Given the description of an element on the screen output the (x, y) to click on. 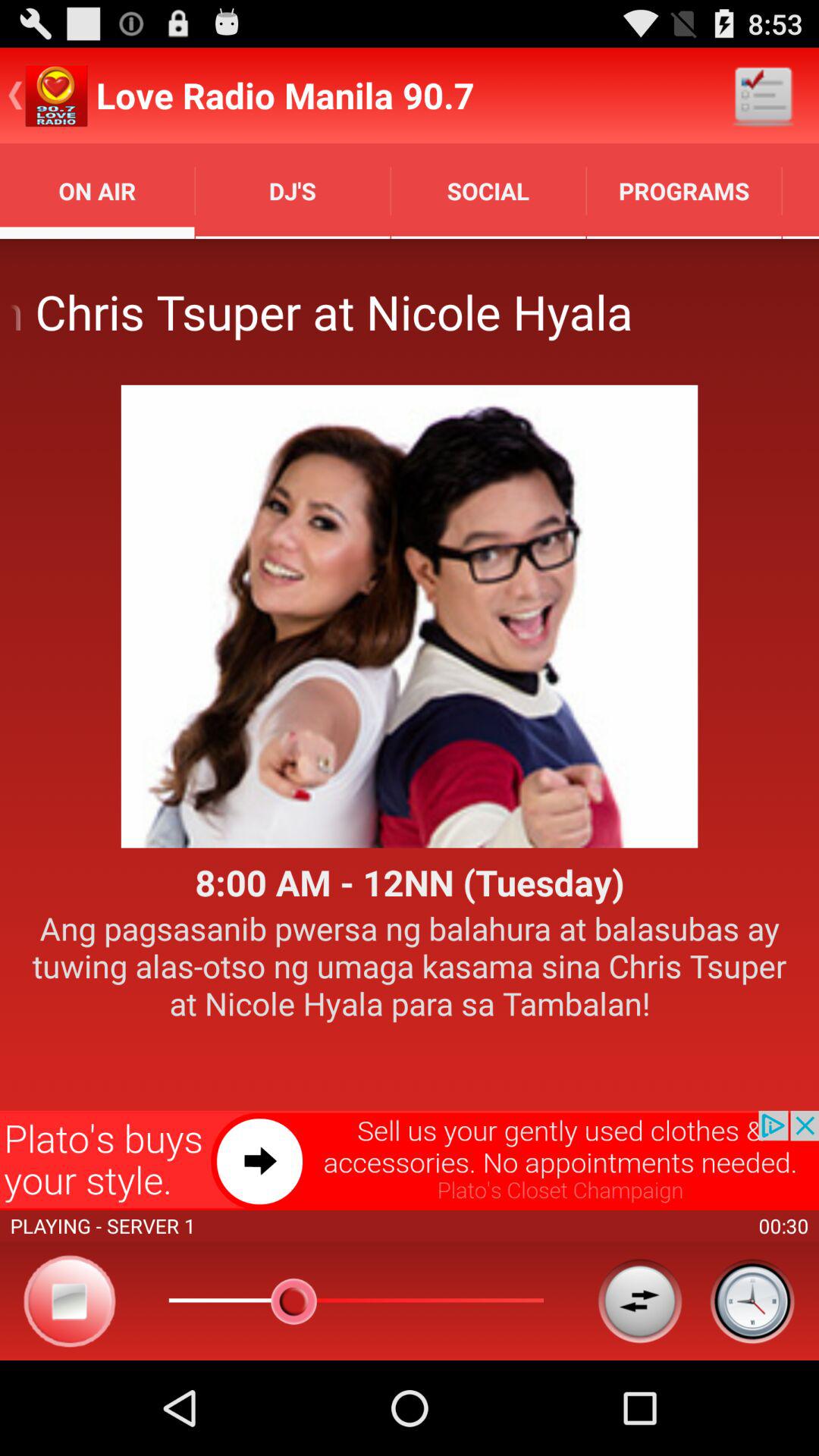
go to next (409, 1160)
